Given the description of an element on the screen output the (x, y) to click on. 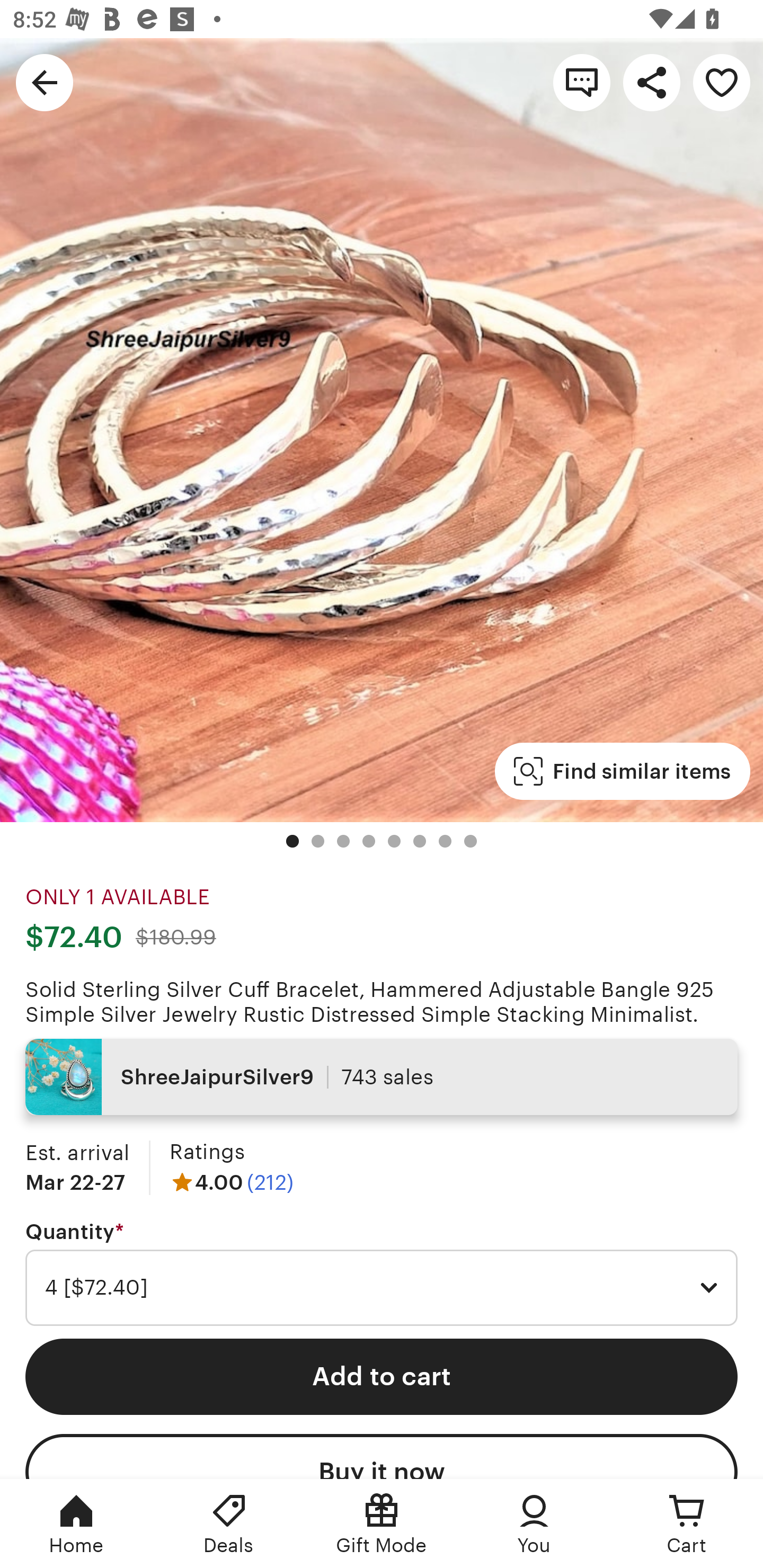
Navigate up (44, 81)
Contact shop (581, 81)
Share (651, 81)
Find similar items (622, 771)
ShreeJaipurSilver9 743 sales (381, 1076)
Ratings (206, 1151)
4.00 (212) (231, 1181)
Quantity * Required 4 [$72.40] (381, 1272)
4 [$72.40] (381, 1287)
Add to cart (381, 1376)
Deals (228, 1523)
Gift Mode (381, 1523)
You (533, 1523)
Cart (686, 1523)
